Given the description of an element on the screen output the (x, y) to click on. 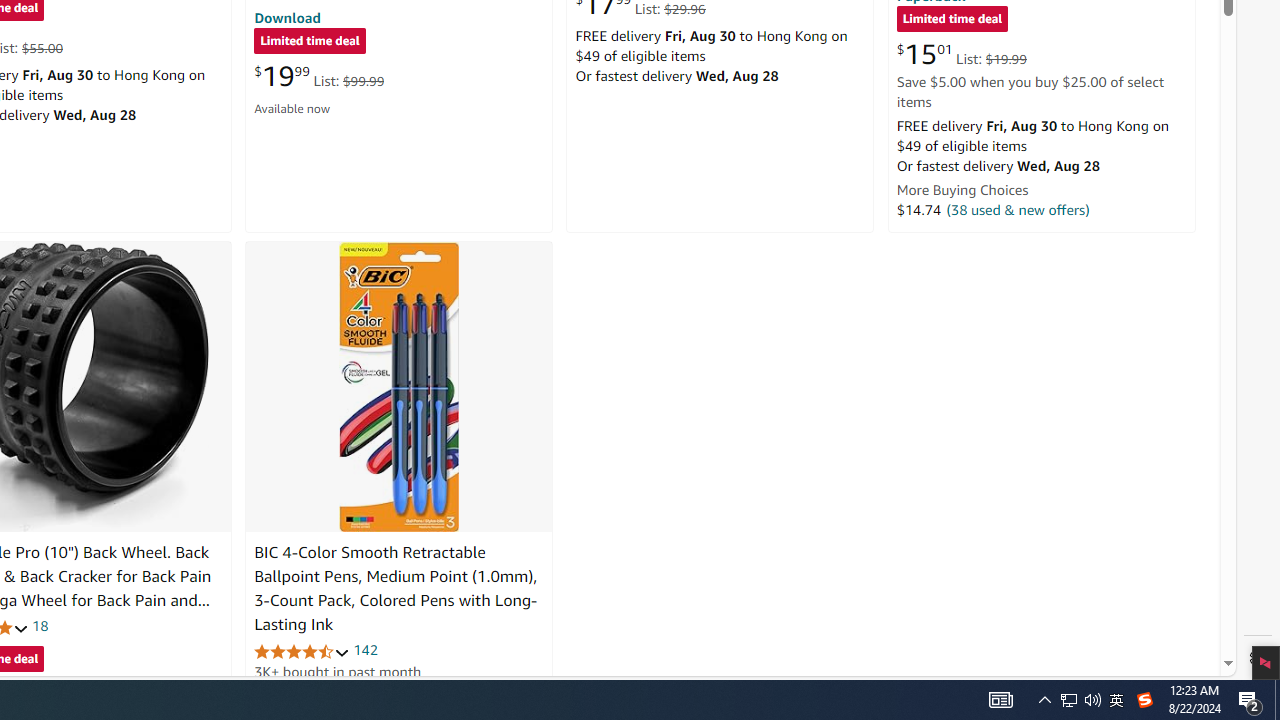
(38 used & new offers) (1017, 209)
Limited time deal (952, 20)
18 (40, 625)
Download (287, 17)
142 (365, 650)
4.6 out of 5 stars (301, 650)
$15.01 List: $19.99 (961, 54)
$19.99 List: $99.99 (319, 76)
